Given the description of an element on the screen output the (x, y) to click on. 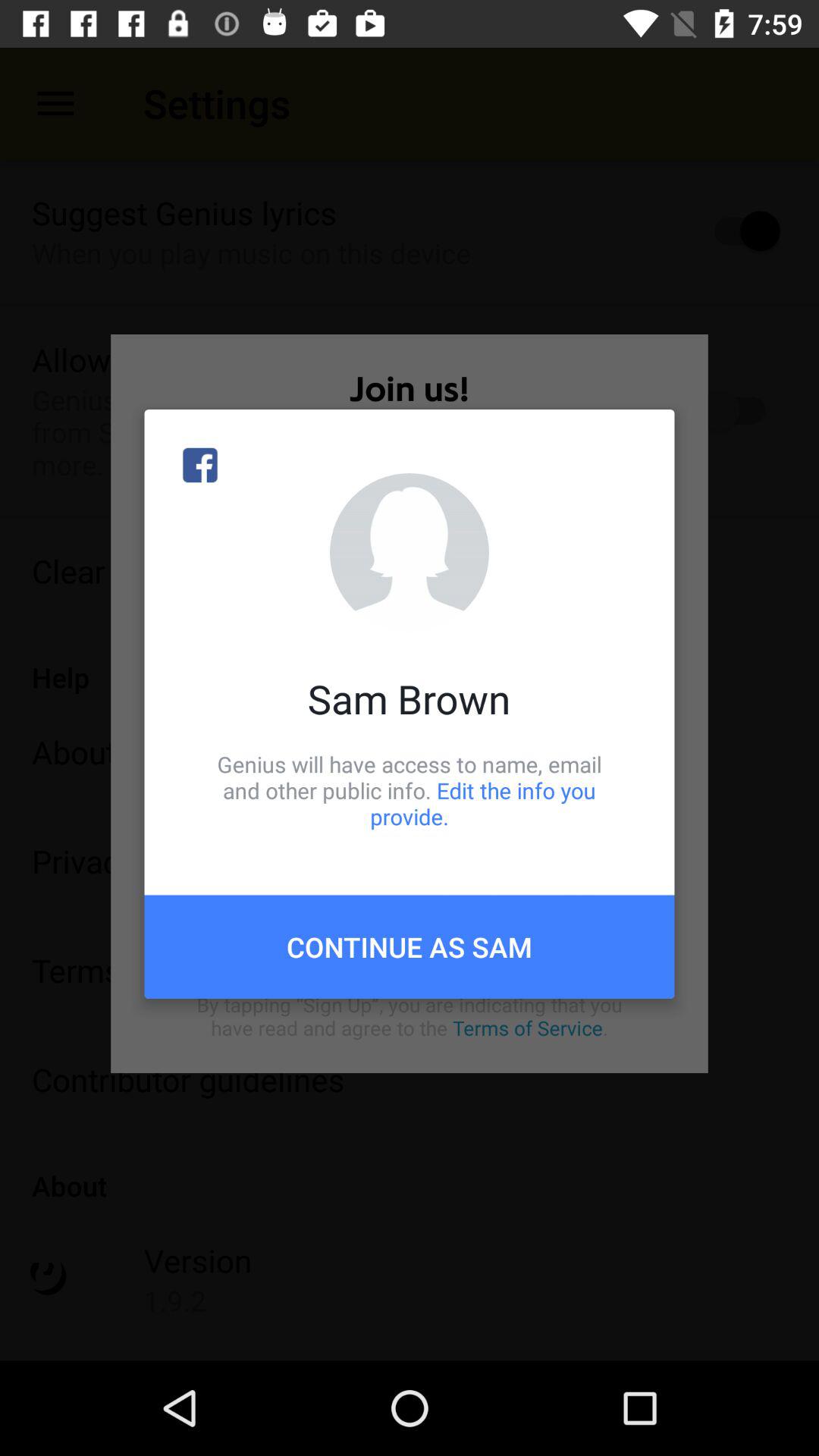
turn on genius will have (409, 790)
